Given the description of an element on the screen output the (x, y) to click on. 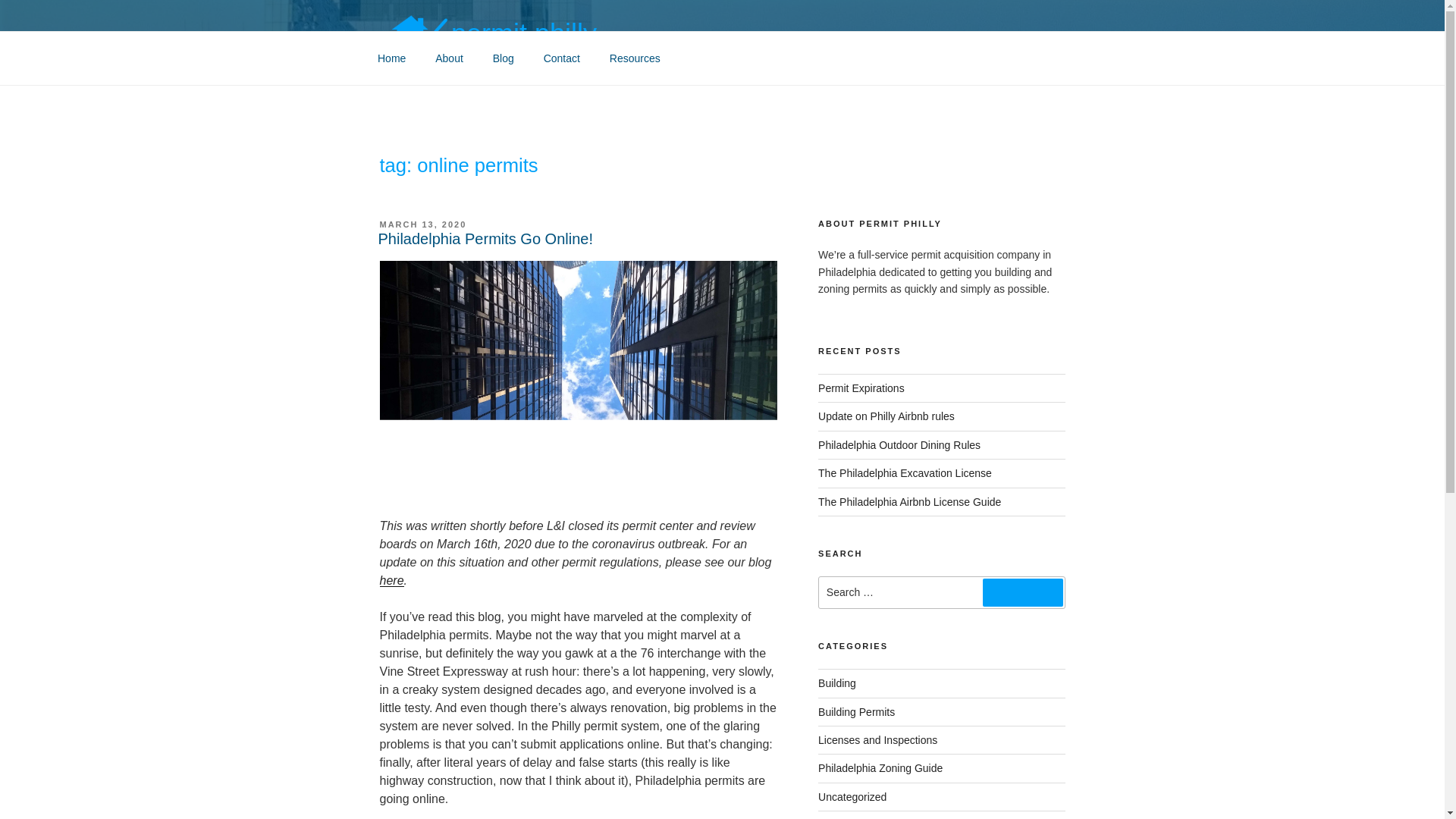
Licenses and Inspections (877, 739)
MARCH 13, 2020 (421, 224)
Home (391, 57)
Uncategorized (852, 797)
Building Permits (856, 711)
Resources (633, 57)
About (449, 57)
Contact (560, 57)
permit philly (523, 33)
Blog (503, 57)
